Given the description of an element on the screen output the (x, y) to click on. 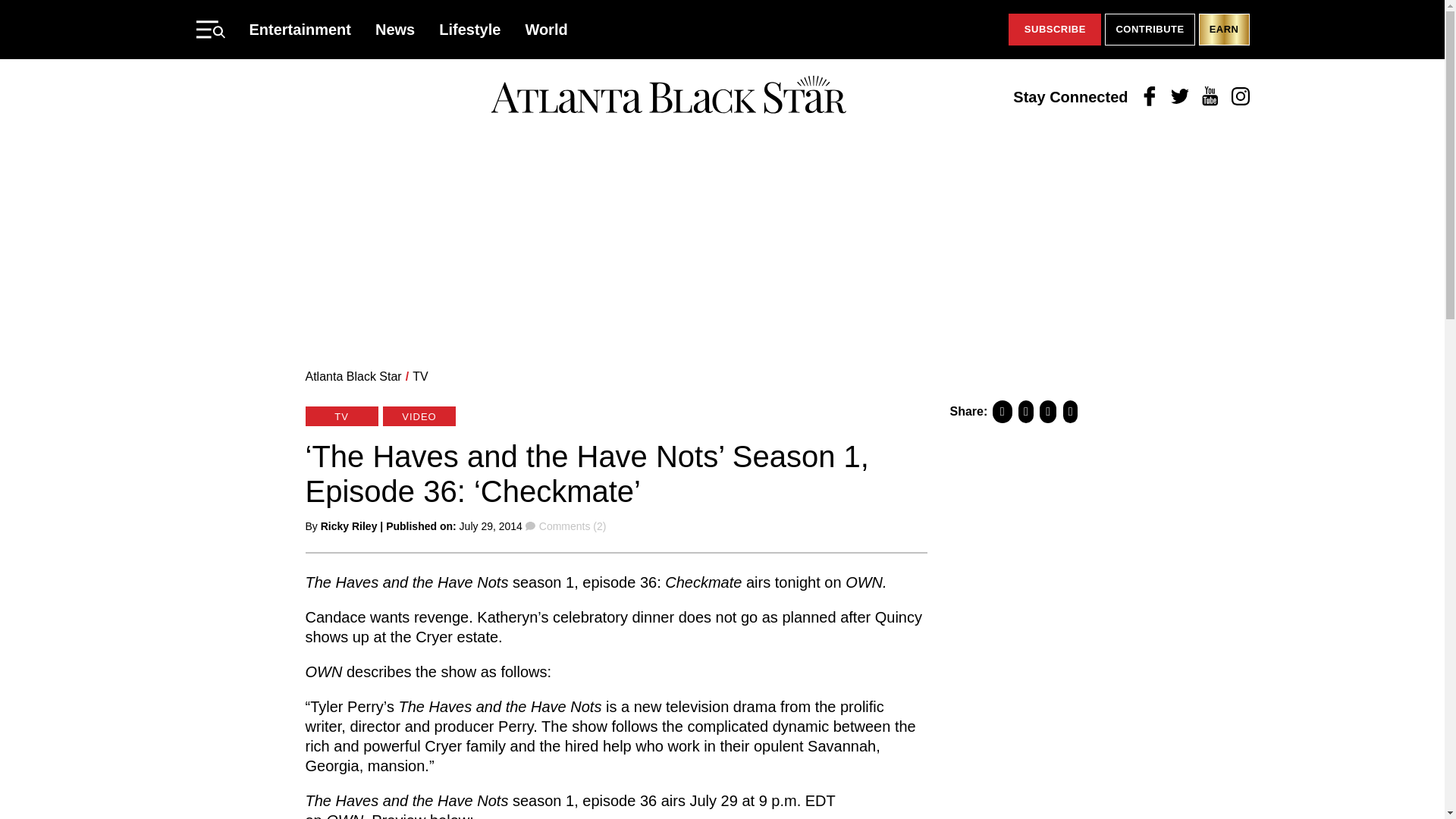
SUBSCRIBE (1054, 29)
Atlanta Black Star (667, 96)
TV (420, 376)
Lifestyle (469, 29)
Go to the TV Category archives. (420, 376)
Entertainment (299, 29)
EARN (1223, 29)
World (545, 29)
Go to Atlanta Black Star. (352, 376)
News (394, 29)
